Given the description of an element on the screen output the (x, y) to click on. 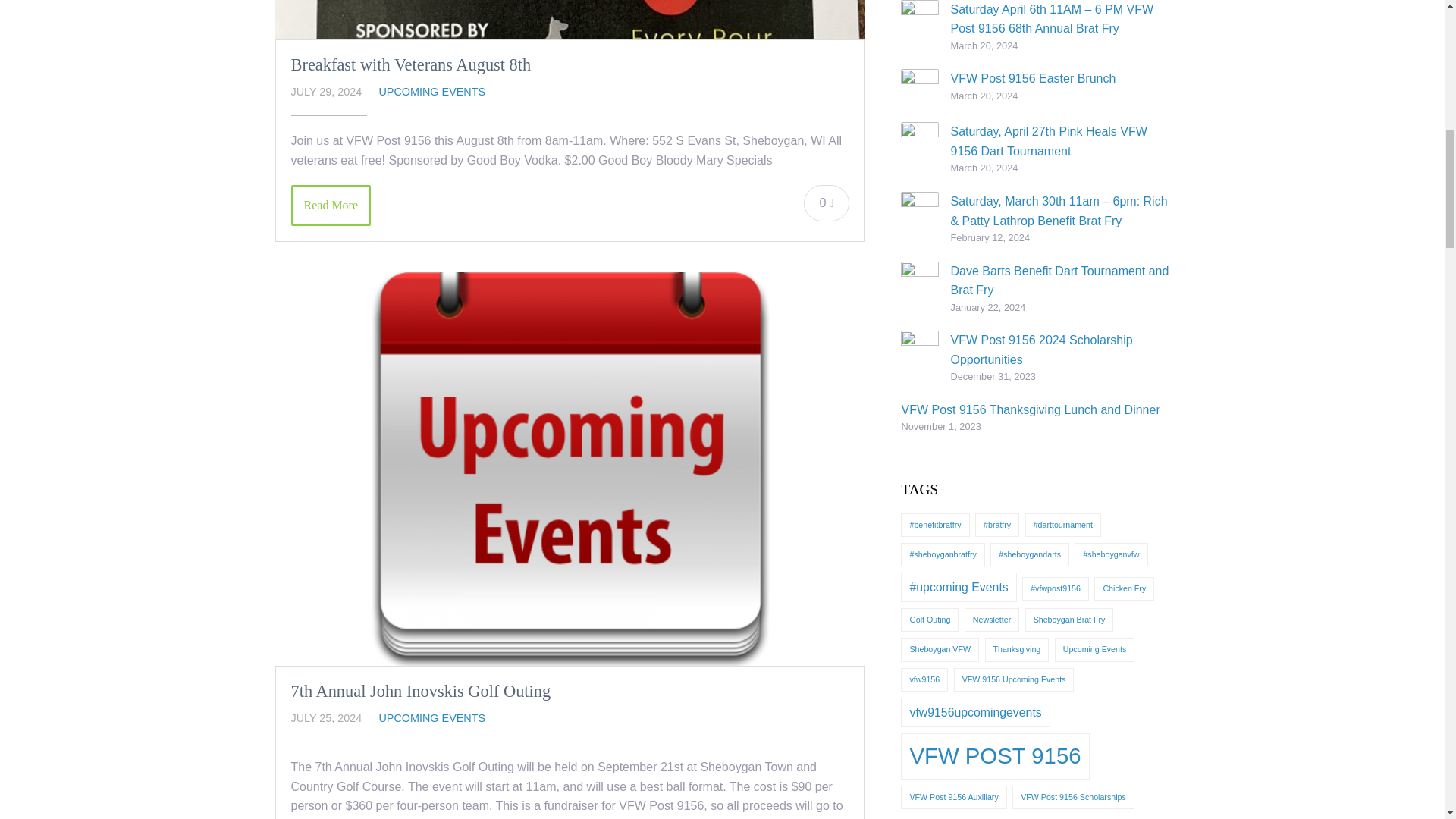
Go to Breakfast with Veterans August 8th (411, 64)
Go to 7th Annual John Inovskis Golf Outing (421, 691)
Go to Breakfast with Veterans August 8th (569, 19)
